Given the description of an element on the screen output the (x, y) to click on. 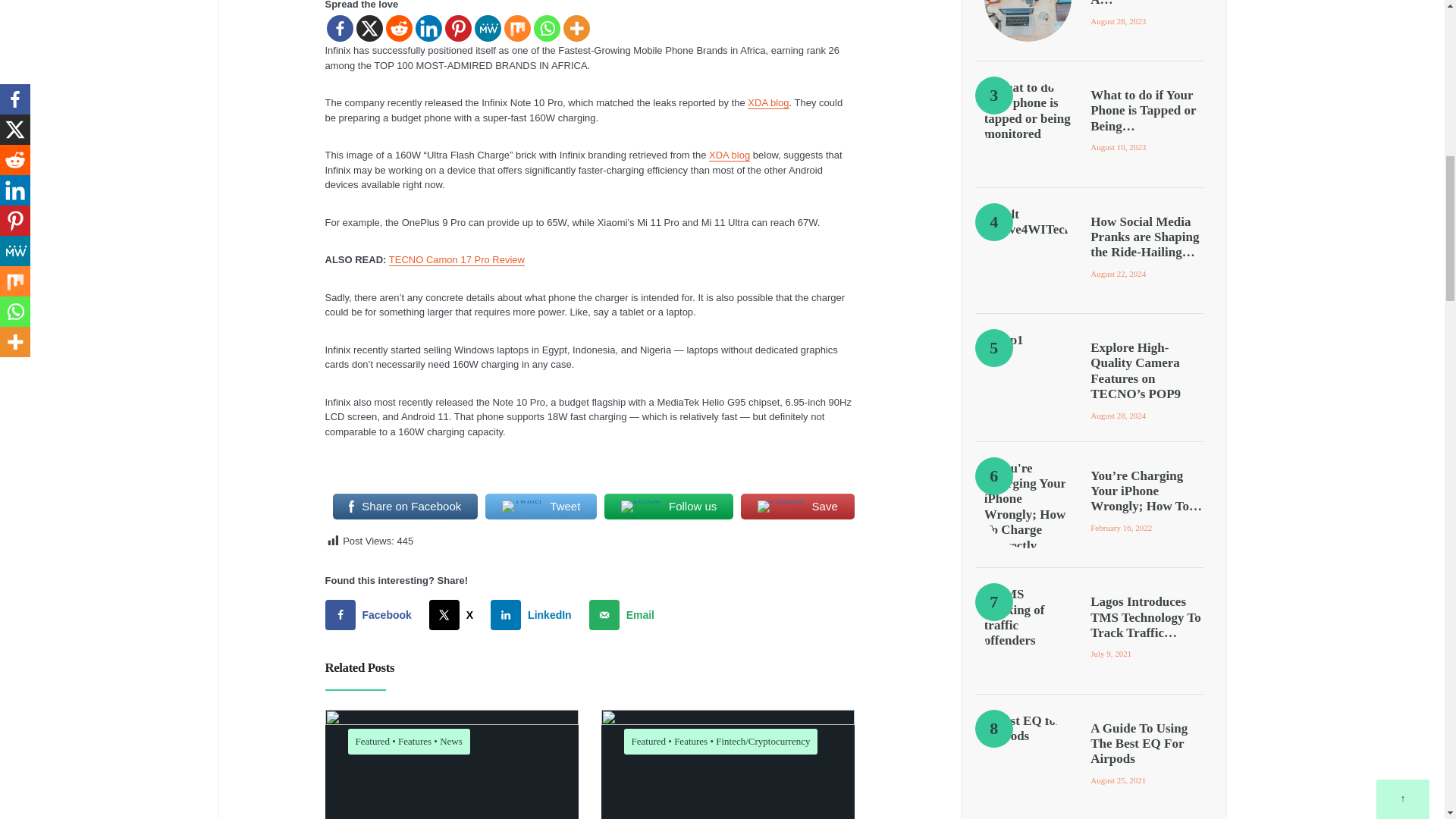
Share on X (454, 614)
Pinterest (457, 28)
X (369, 28)
Share on Facebook (370, 614)
Mix (516, 28)
More (575, 28)
Share on LinkedIn (534, 614)
MeWe (487, 28)
Send over email (625, 614)
Linkedin (428, 28)
